Given the description of an element on the screen output the (x, y) to click on. 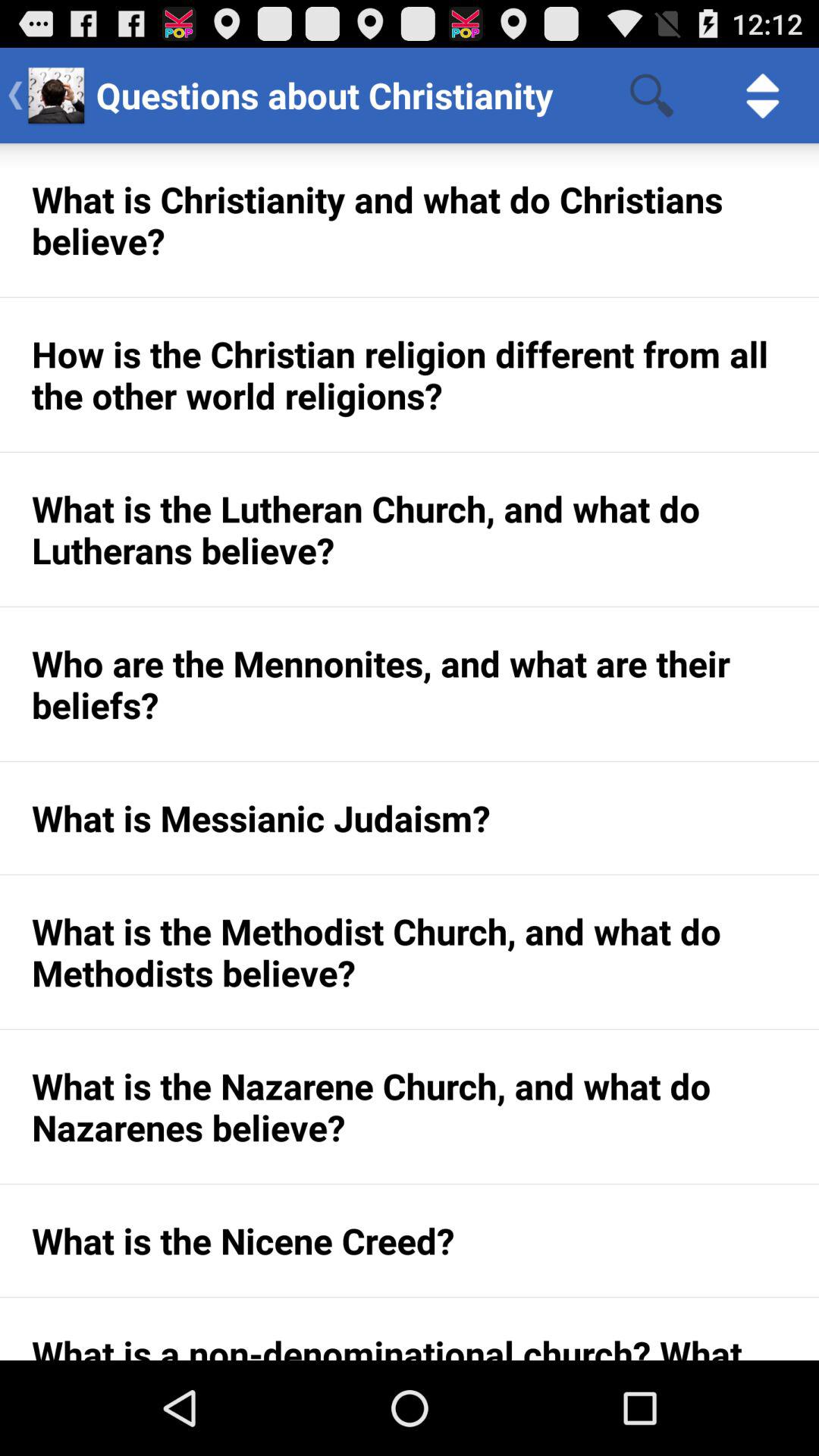
turn on the app above what is christianity item (651, 95)
